Given the description of an element on the screen output the (x, y) to click on. 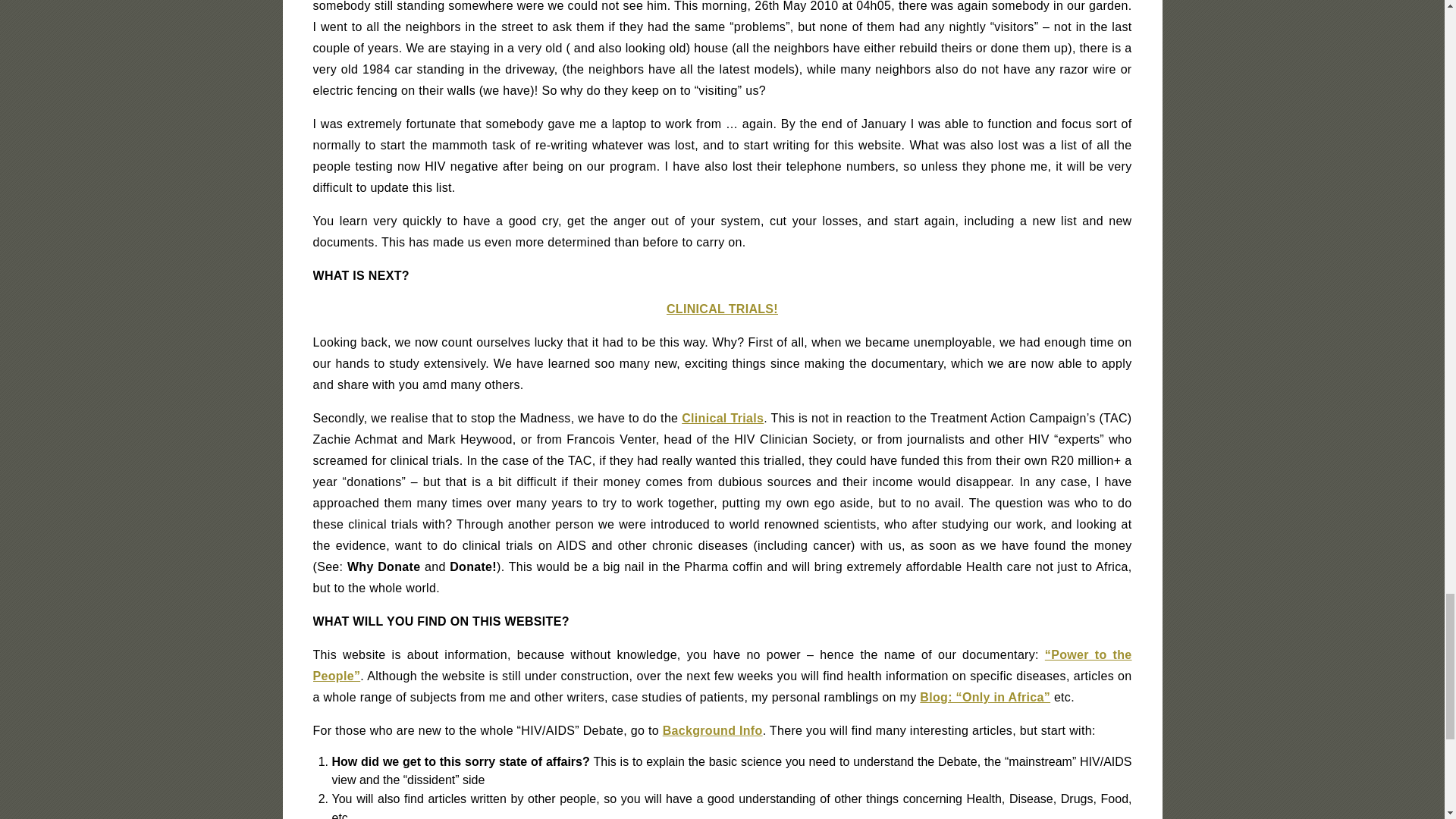
Clinical Trials (721, 418)
CLINICAL TRIALS! (721, 308)
Background Info (712, 730)
